Given the description of an element on the screen output the (x, y) to click on. 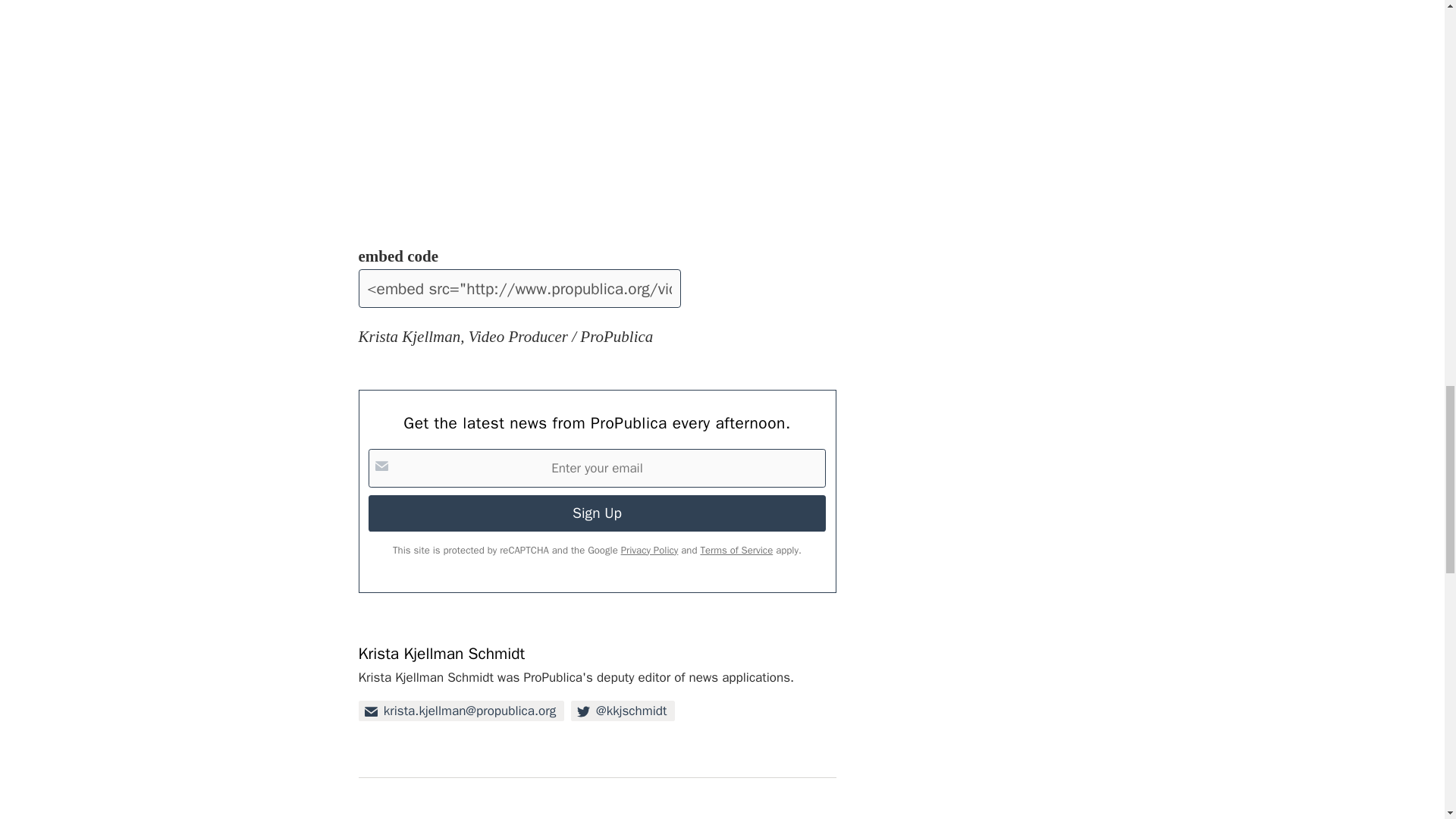
Krista Kjellman Schmidt (441, 653)
Sign Up (596, 513)
Terms of Service (736, 549)
Privacy Policy (649, 549)
Email (461, 711)
Sign Up (596, 513)
Twitter (622, 711)
